Given the description of an element on the screen output the (x, y) to click on. 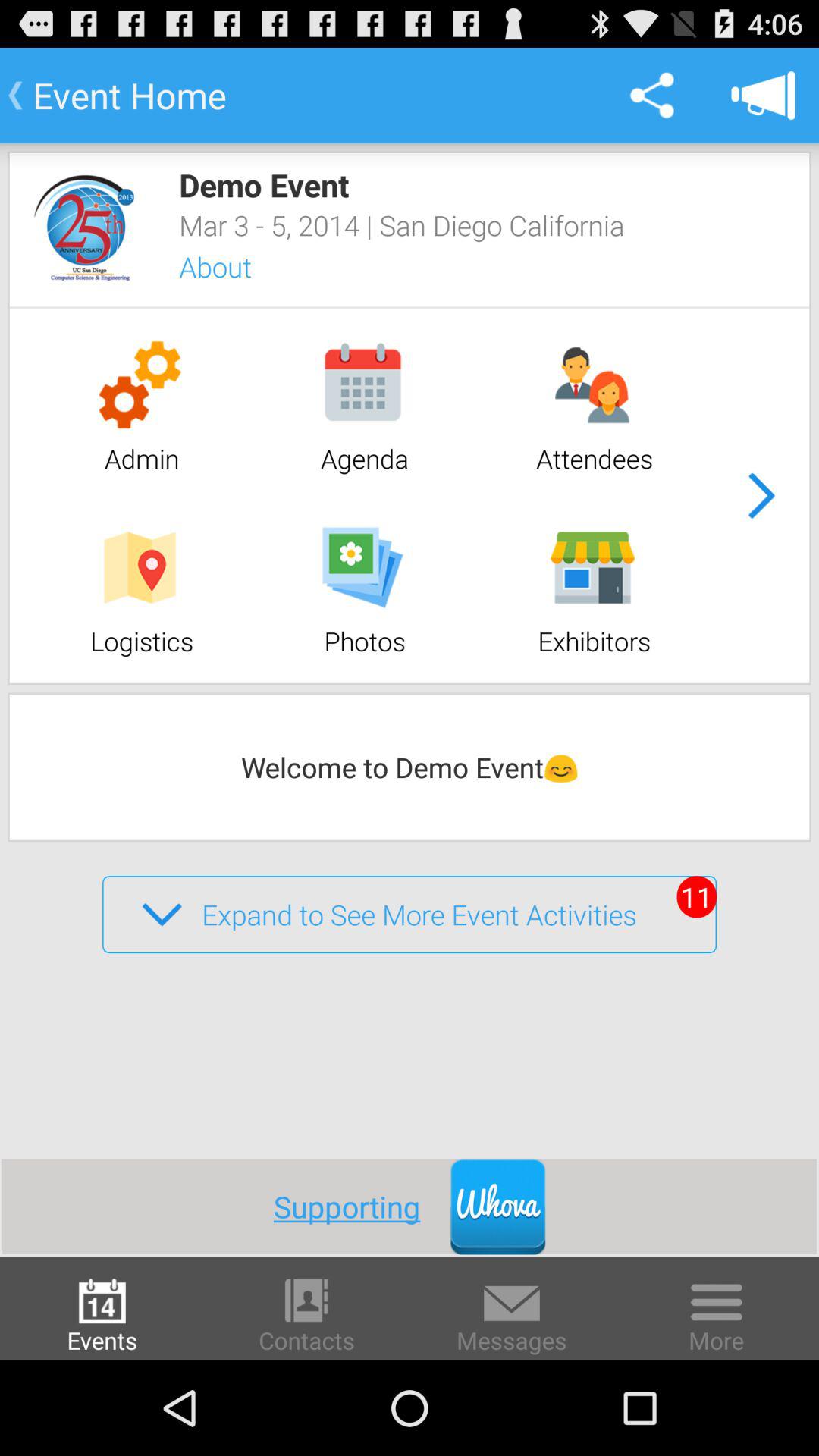
swipe until about item (235, 267)
